Given the description of an element on the screen output the (x, y) to click on. 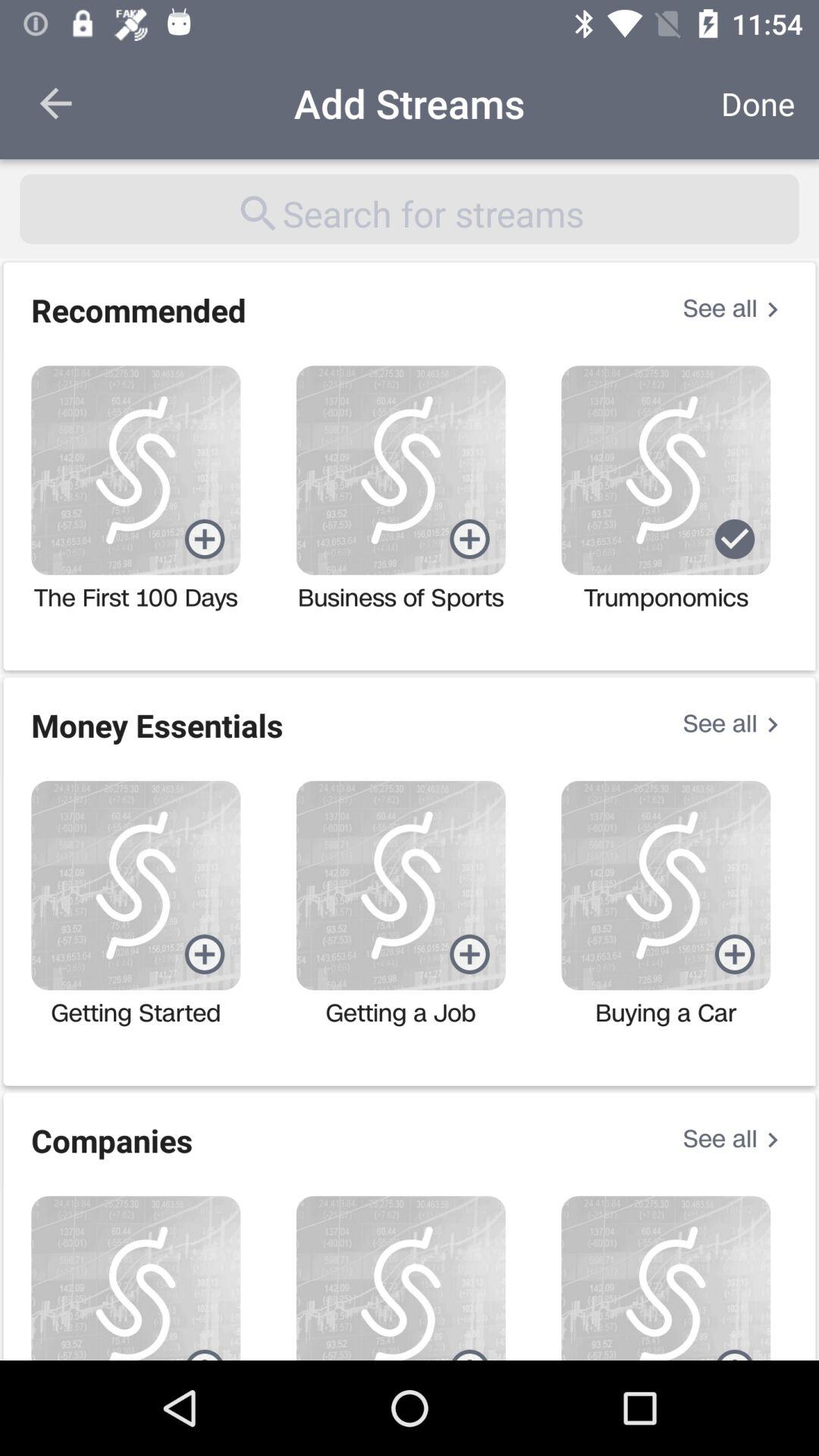
search (409, 208)
